Given the description of an element on the screen output the (x, y) to click on. 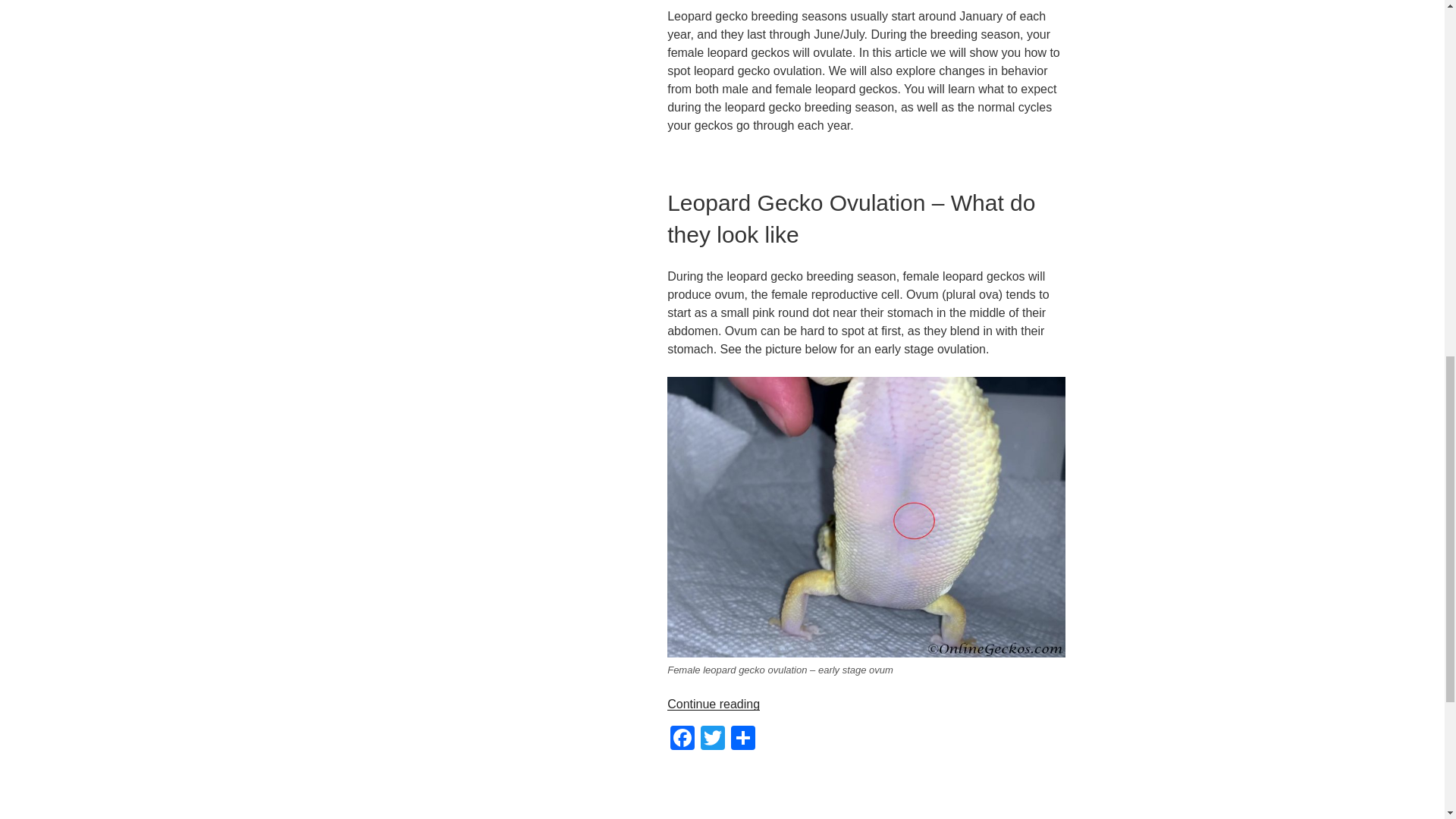
Facebook (681, 739)
Twitter (712, 739)
Twitter (712, 739)
Facebook (681, 739)
